Given the description of an element on the screen output the (x, y) to click on. 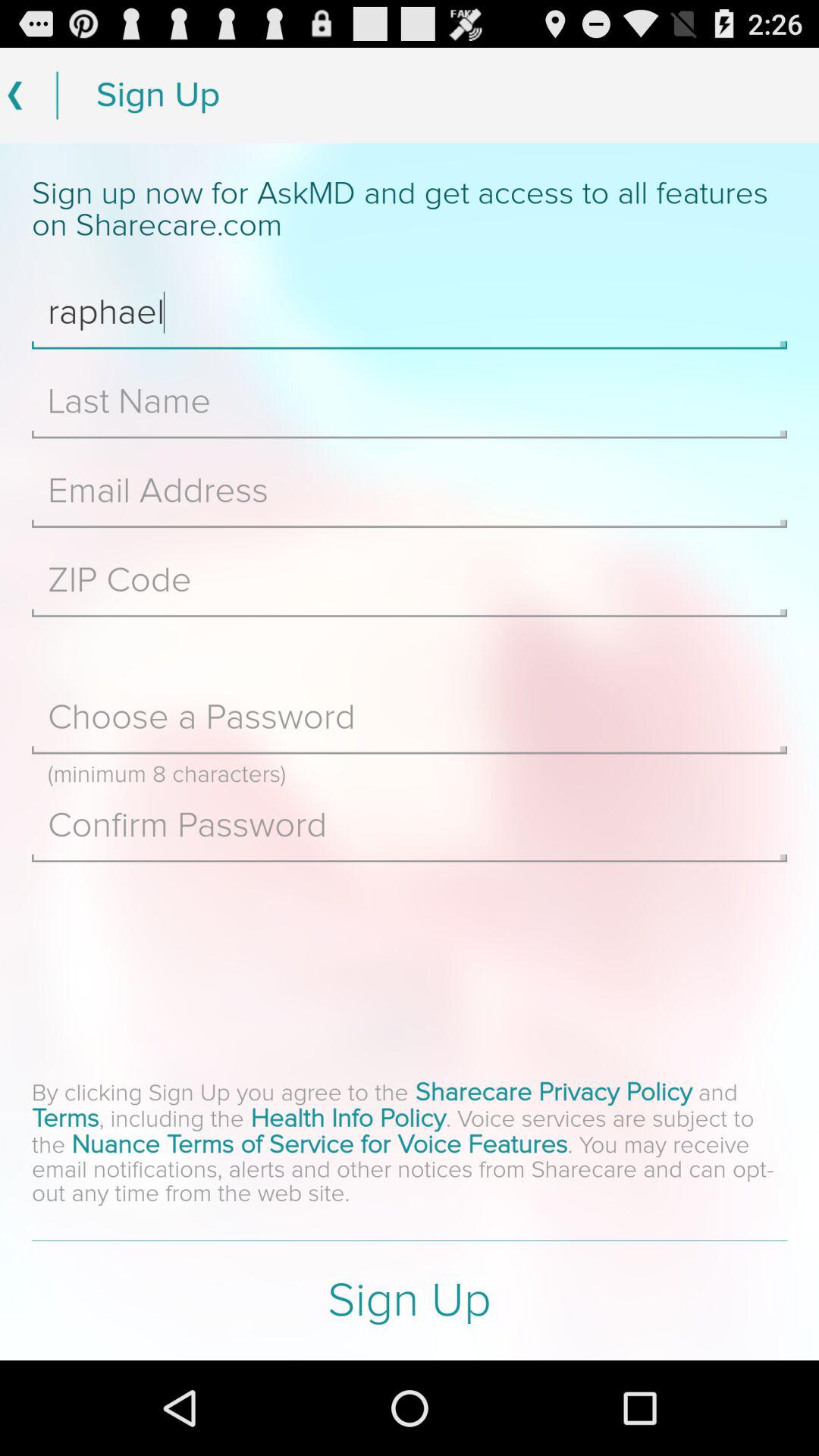
choose a password (409, 717)
